Given the description of an element on the screen output the (x, y) to click on. 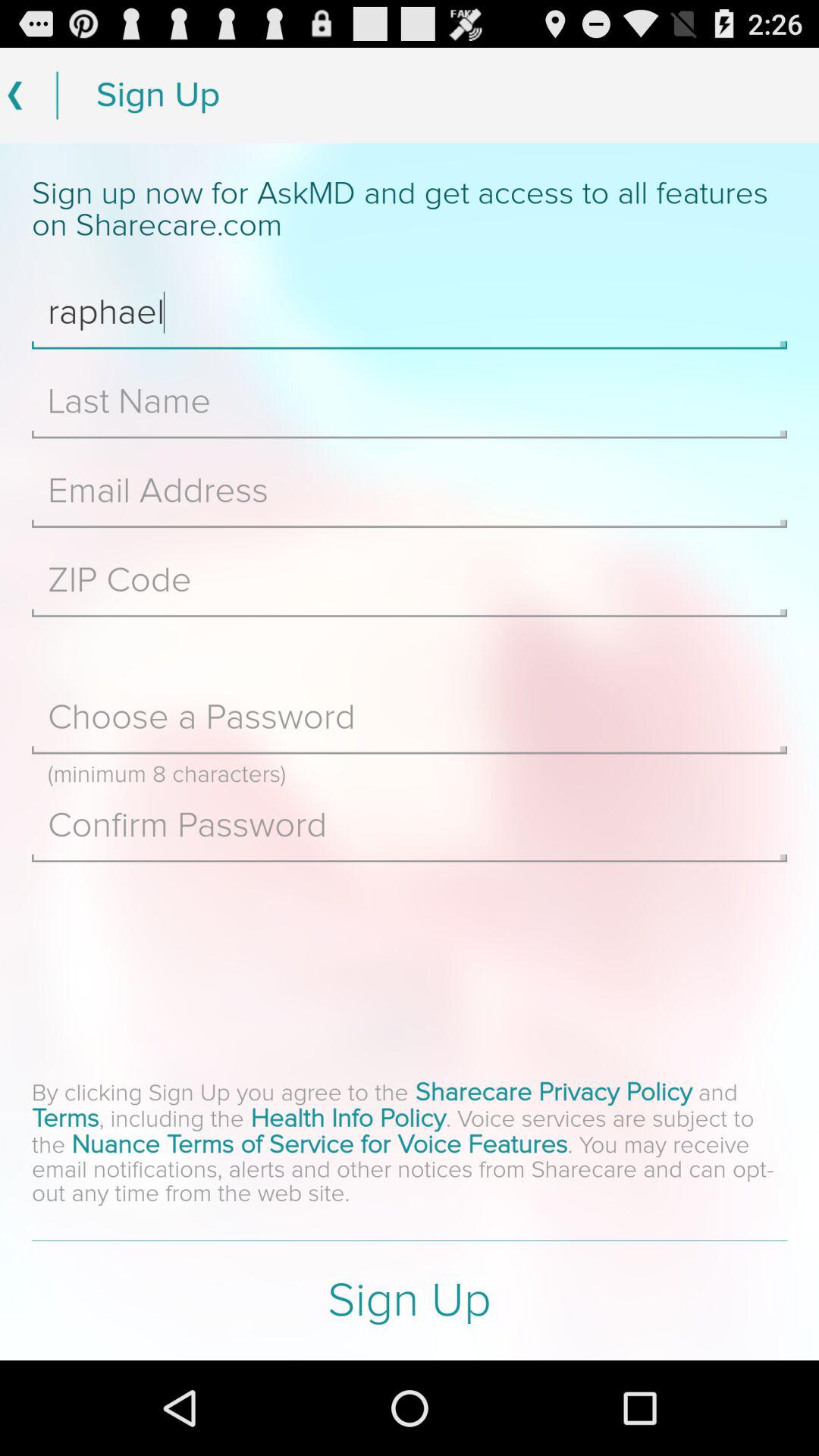
choose a password (409, 717)
